Given the description of an element on the screen output the (x, y) to click on. 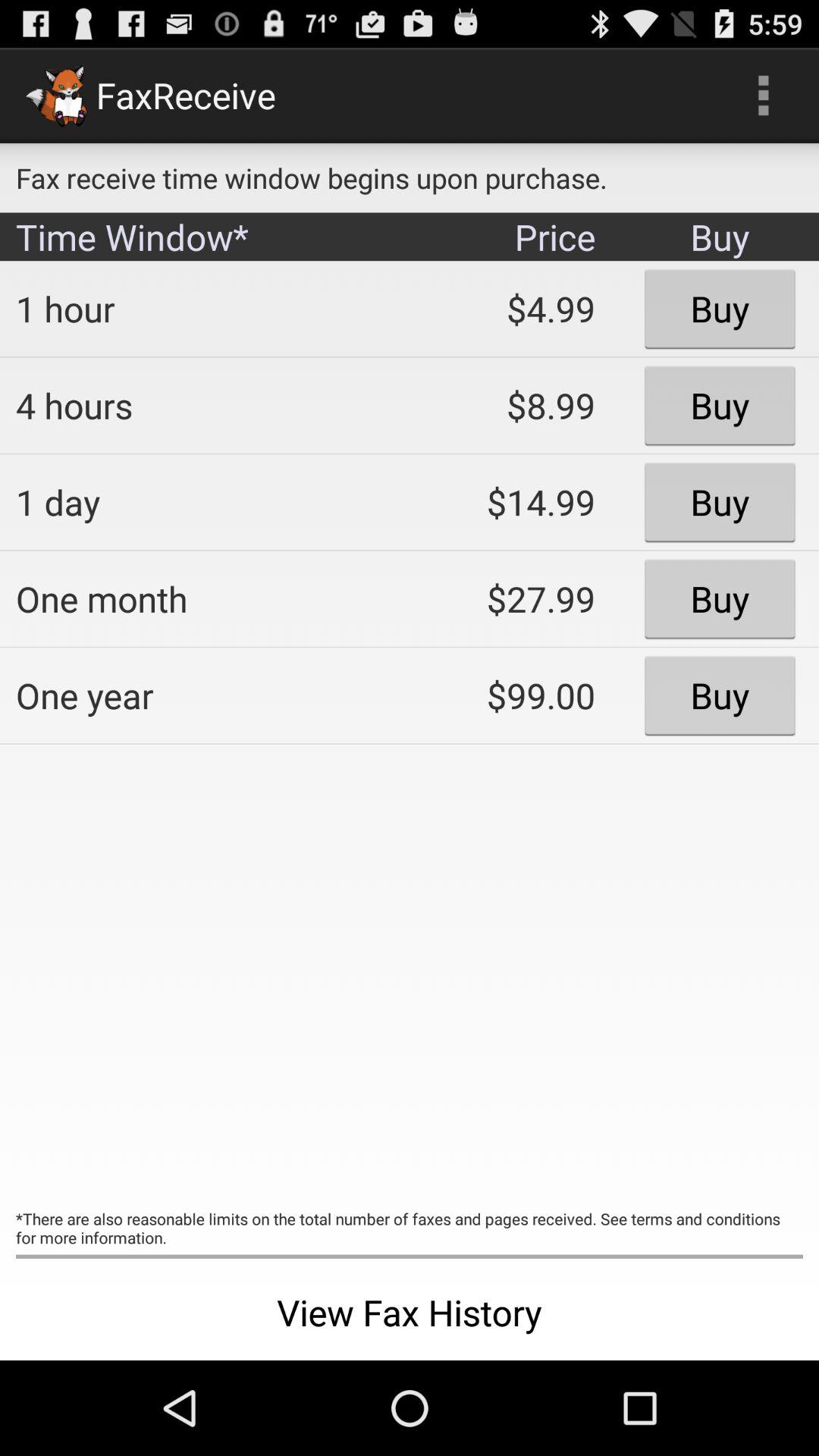
click the item next to $27.99 (201, 695)
